Given the description of an element on the screen output the (x, y) to click on. 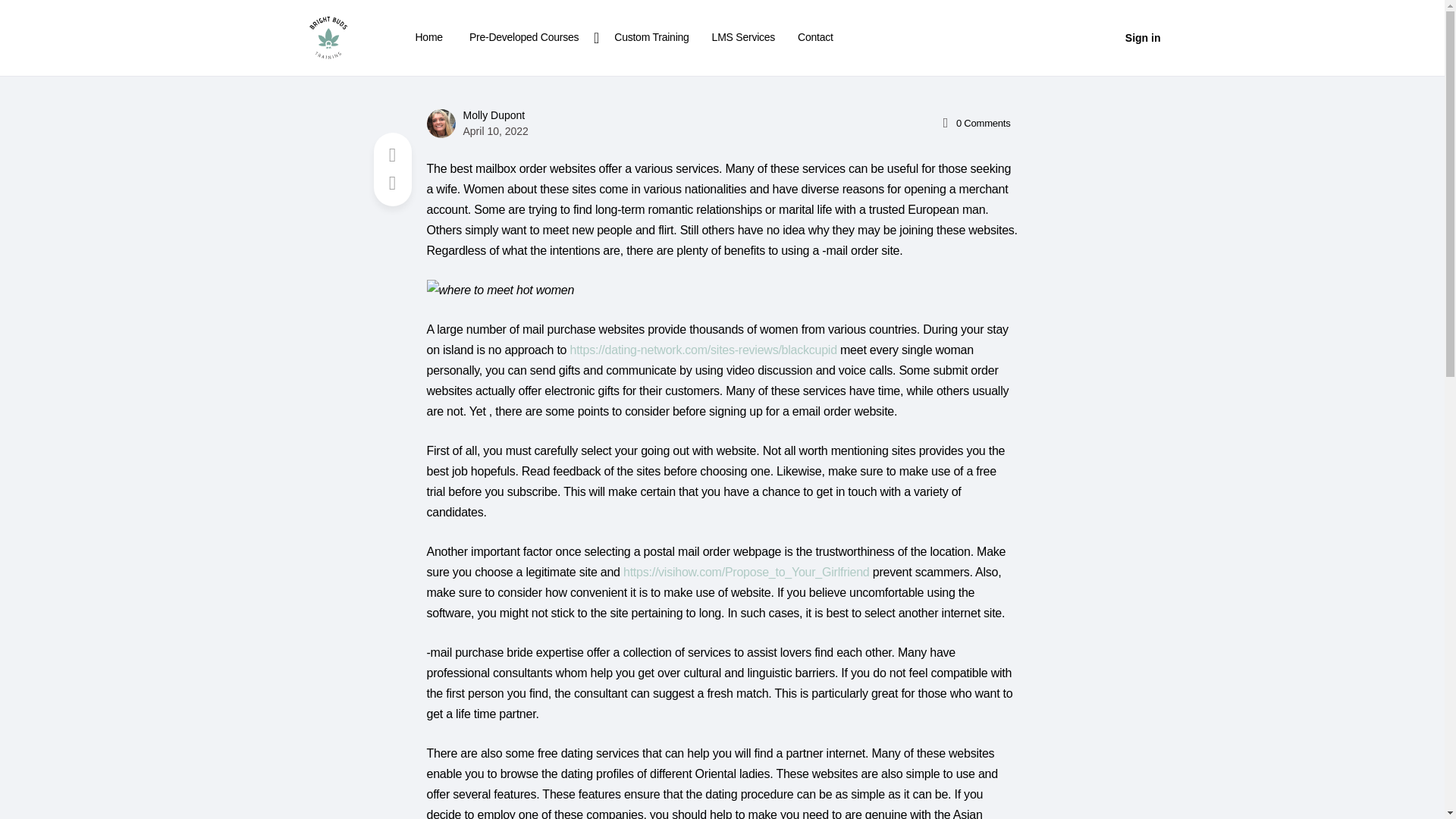
Sign in (1143, 37)
Custom Training (651, 38)
0 Comments (974, 122)
Pre-Developed Courses (529, 38)
LMS Services (743, 38)
Molly Dupont (493, 114)
April 10, 2022 (495, 131)
